Given the description of an element on the screen output the (x, y) to click on. 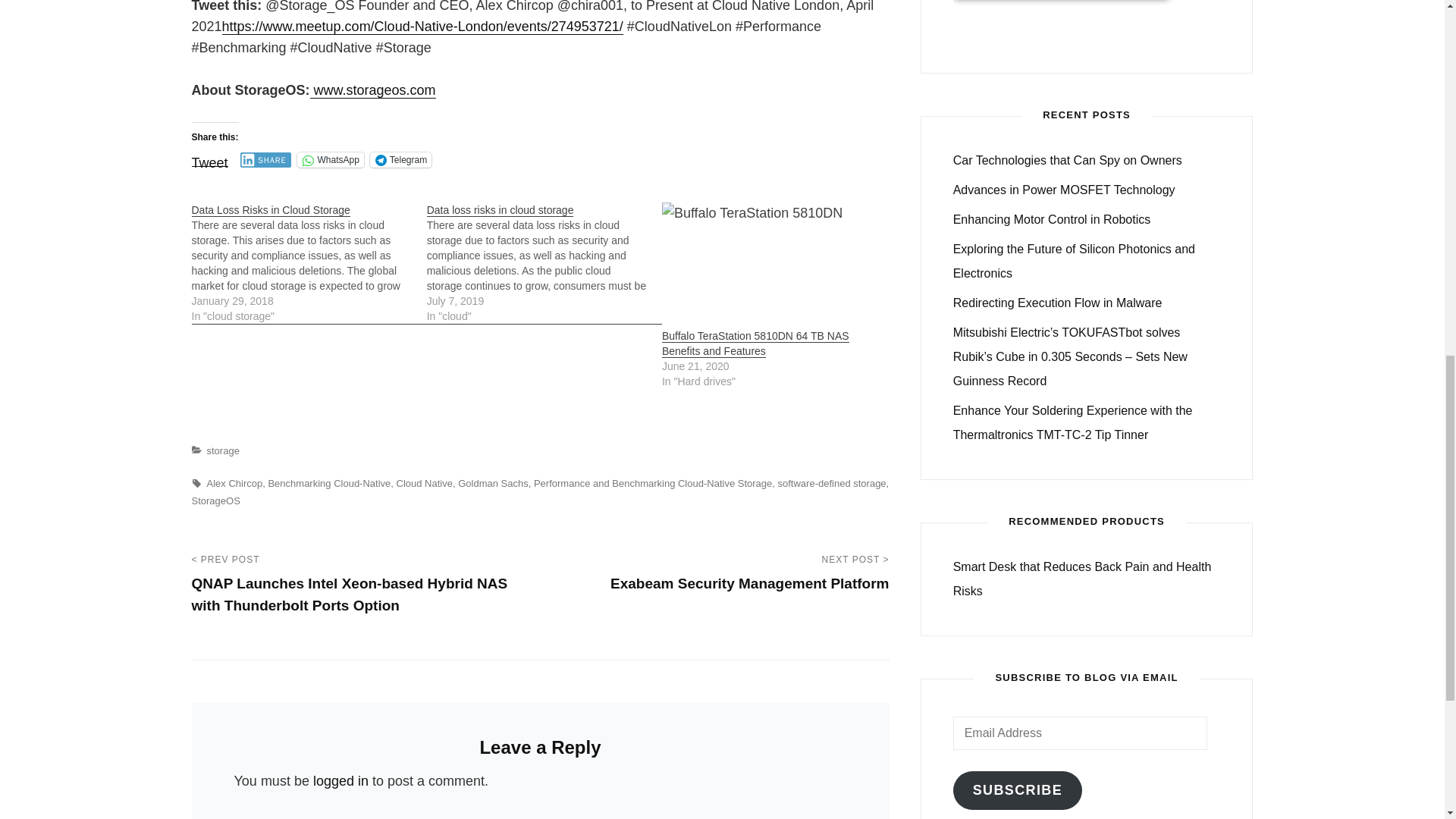
Telegram (399, 159)
Data loss risks in cloud storage (499, 209)
Buffalo TeraStation 5810DN 64 TB NAS Benefits and Features (772, 265)
Performance and Benchmarking Cloud-Native Storage (652, 482)
Benchmarking Cloud-Native (328, 482)
www.storageos.com (371, 89)
Click to share on Telegram (399, 159)
Data Loss Risks in Cloud Storage (269, 209)
storage (222, 450)
WhatsApp (329, 159)
SHARE (266, 159)
Data loss risks in cloud storage (544, 262)
Buffalo TeraStation 5810DN 64 TB NAS Benefits and Features (755, 343)
StorageOS (215, 500)
Goldman Sachs (493, 482)
